Given the description of an element on the screen output the (x, y) to click on. 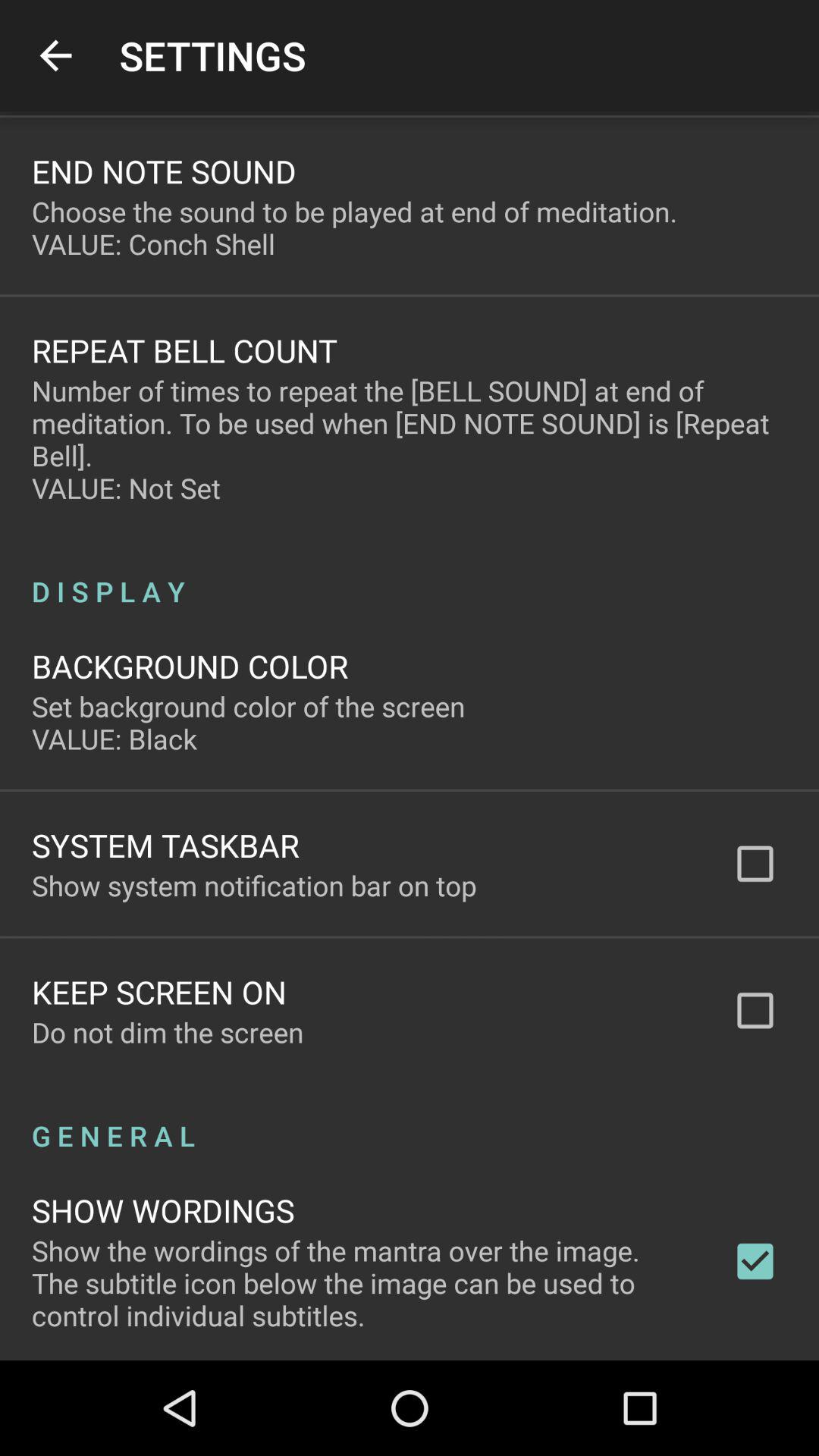
launch number of times icon (409, 438)
